Given the description of an element on the screen output the (x, y) to click on. 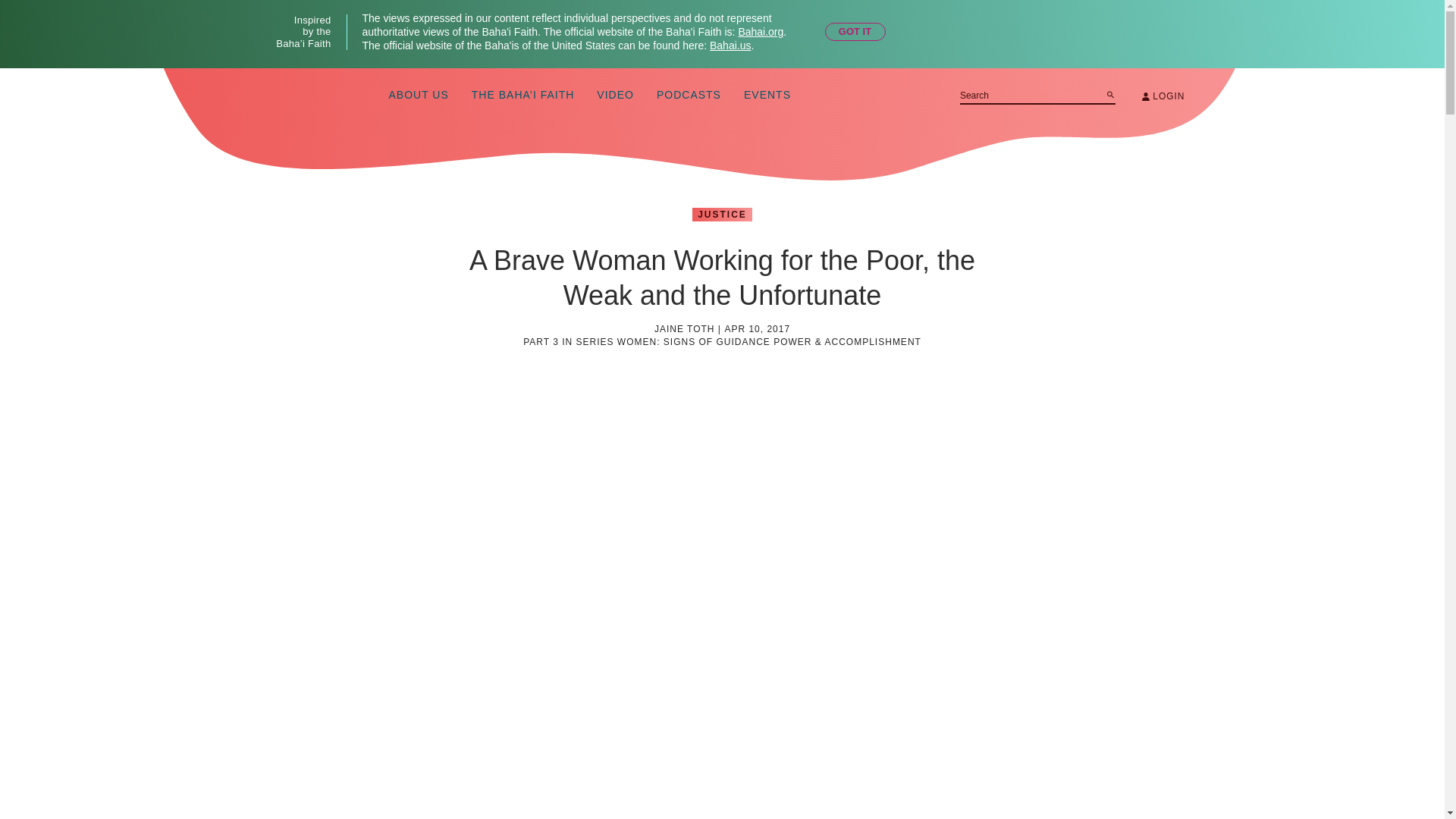
Bahai.us (730, 45)
Search for: (1037, 95)
LOGIN (1163, 95)
EVENTS (767, 96)
GOT IT (855, 31)
Search (1110, 94)
VIDEO (614, 96)
PODCASTS (688, 96)
ABOUT US (418, 96)
Bahai.org (760, 31)
